Given the description of an element on the screen output the (x, y) to click on. 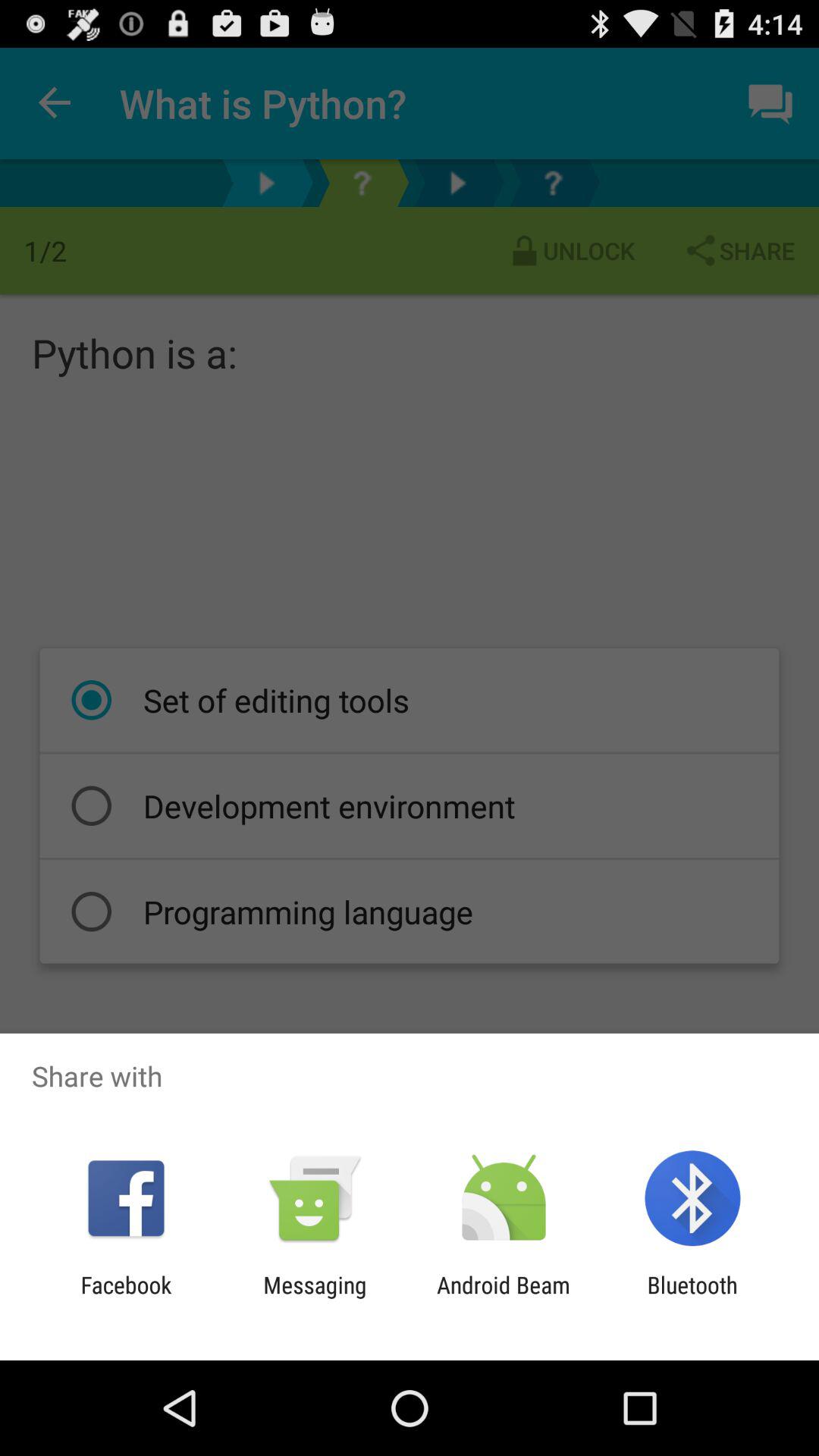
scroll until the facebook (125, 1298)
